Given the description of an element on the screen output the (x, y) to click on. 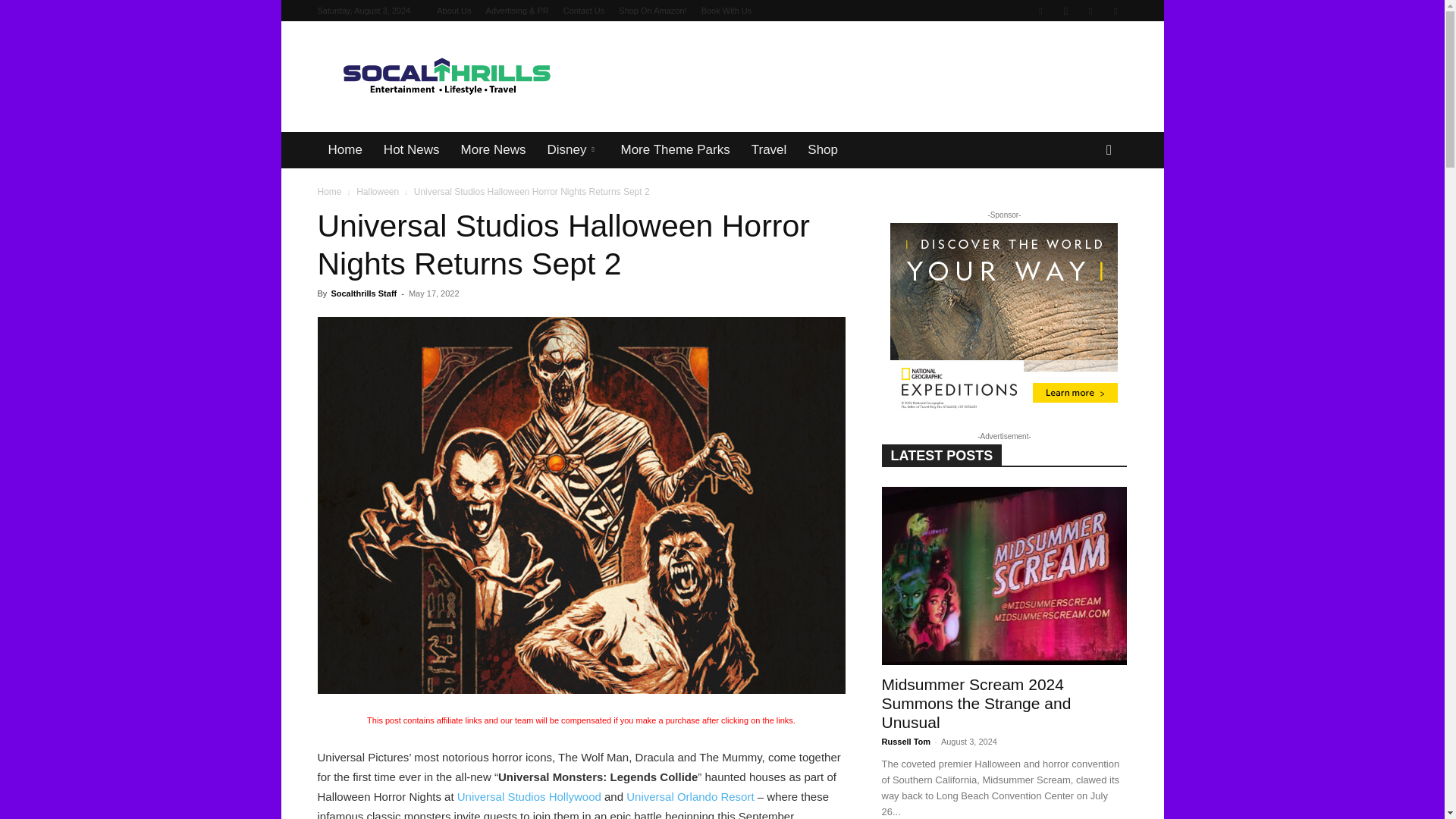
Facebook (1040, 10)
Shop On Amazon! (651, 10)
View all posts in Halloween (377, 191)
Hot News (410, 149)
About Us (453, 10)
More News (493, 149)
Contact Us (583, 10)
Socalthrills Logo (445, 76)
Instagram (1065, 10)
Disney (573, 149)
Pinterest (1090, 10)
Home (344, 149)
Youtube (1114, 10)
More Theme Parks (674, 149)
